Given the description of an element on the screen output the (x, y) to click on. 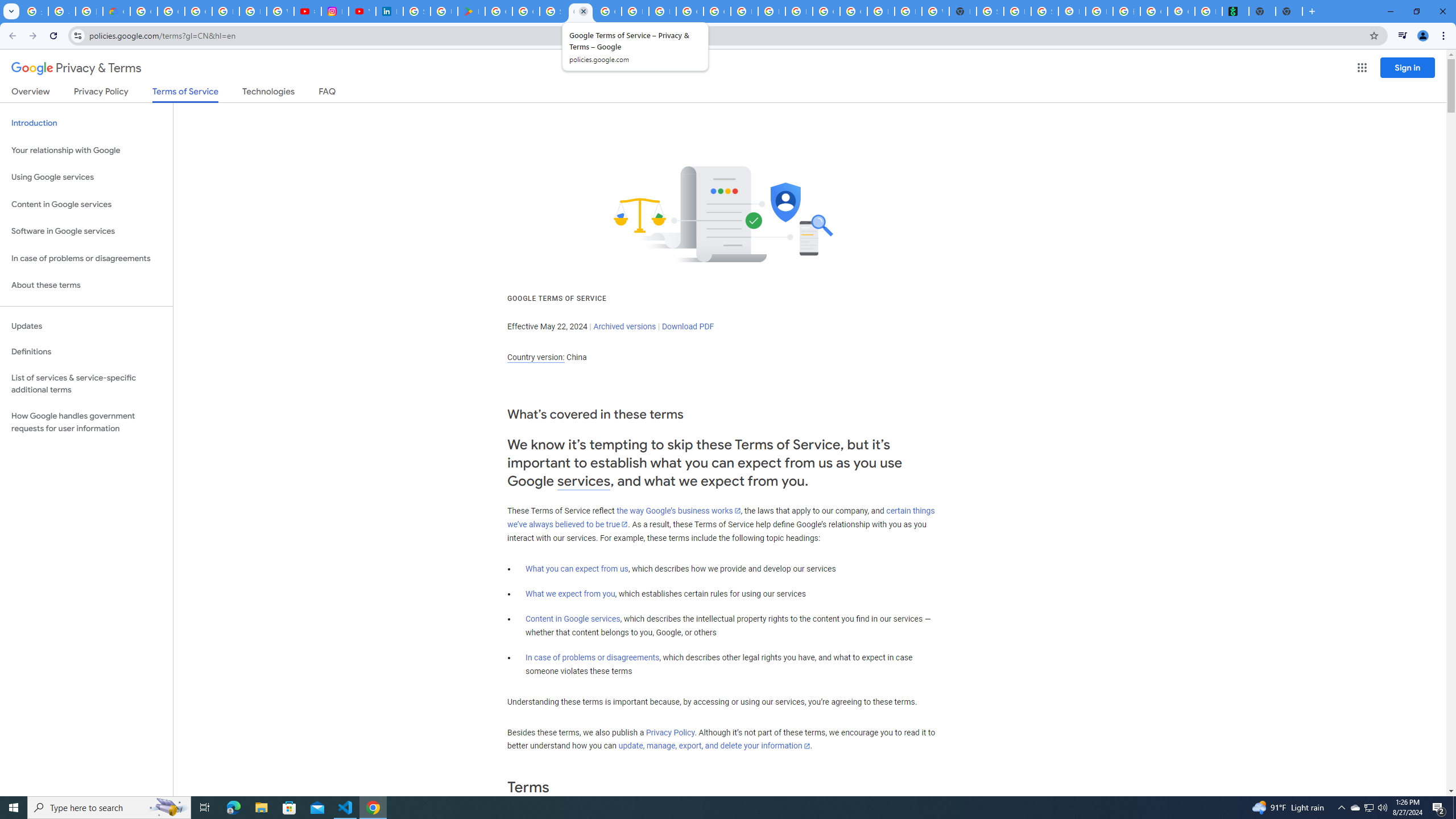
Last Shelter: Survival - Apps on Google Play (471, 11)
Sign in - Google Accounts (553, 11)
Browse Chrome as a guest - Computer - Google Chrome Help (908, 11)
Updates (86, 325)
List of services & service-specific additional terms (86, 383)
